Given the description of an element on the screen output the (x, y) to click on. 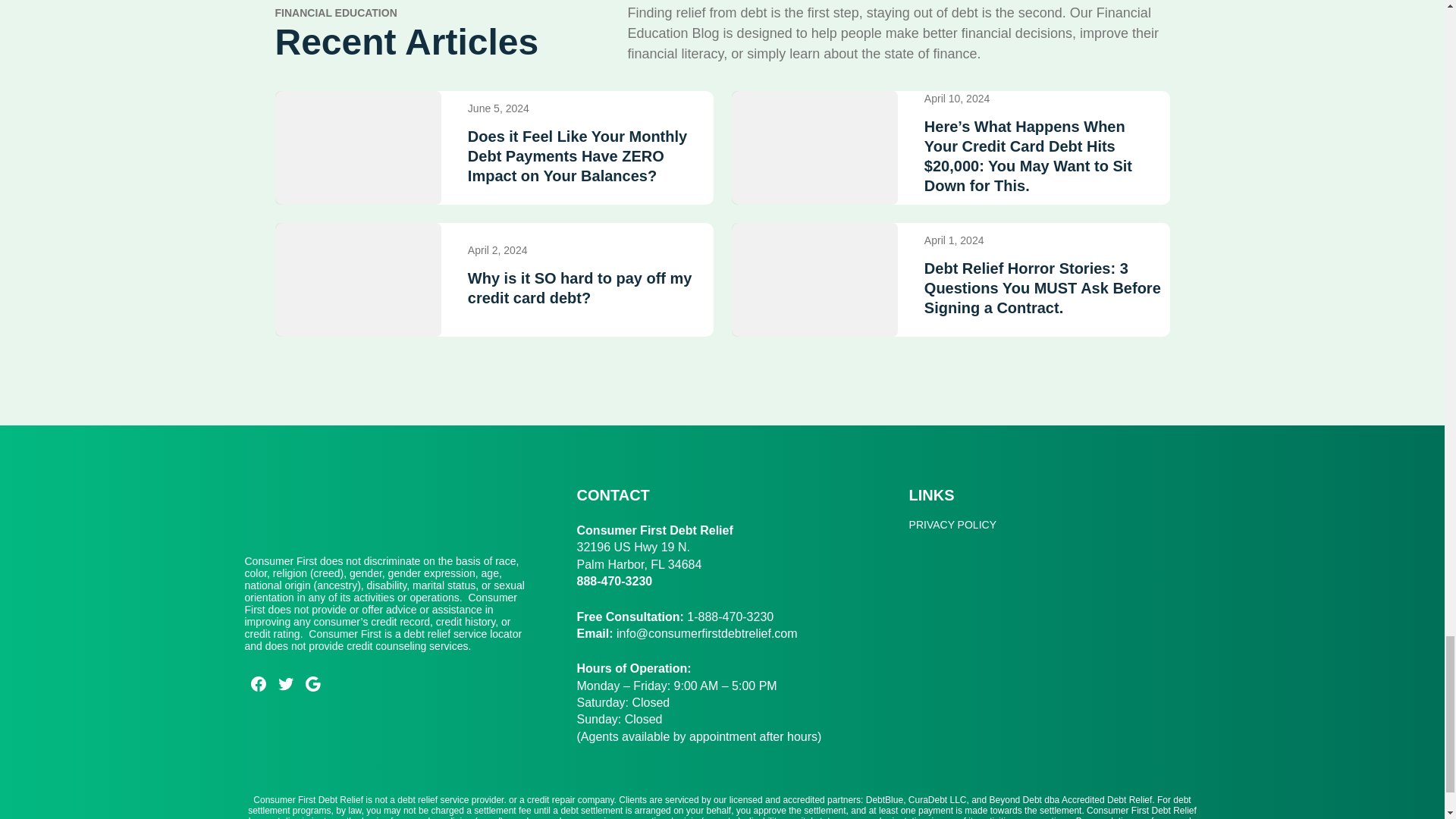
Google (312, 683)
PRIVACY POLICY (951, 524)
Facebook (257, 683)
888-470-3230 (614, 581)
Why is it SO hard to pay off my credit card debt? (585, 287)
Twitter (284, 683)
